Given the description of an element on the screen output the (x, y) to click on. 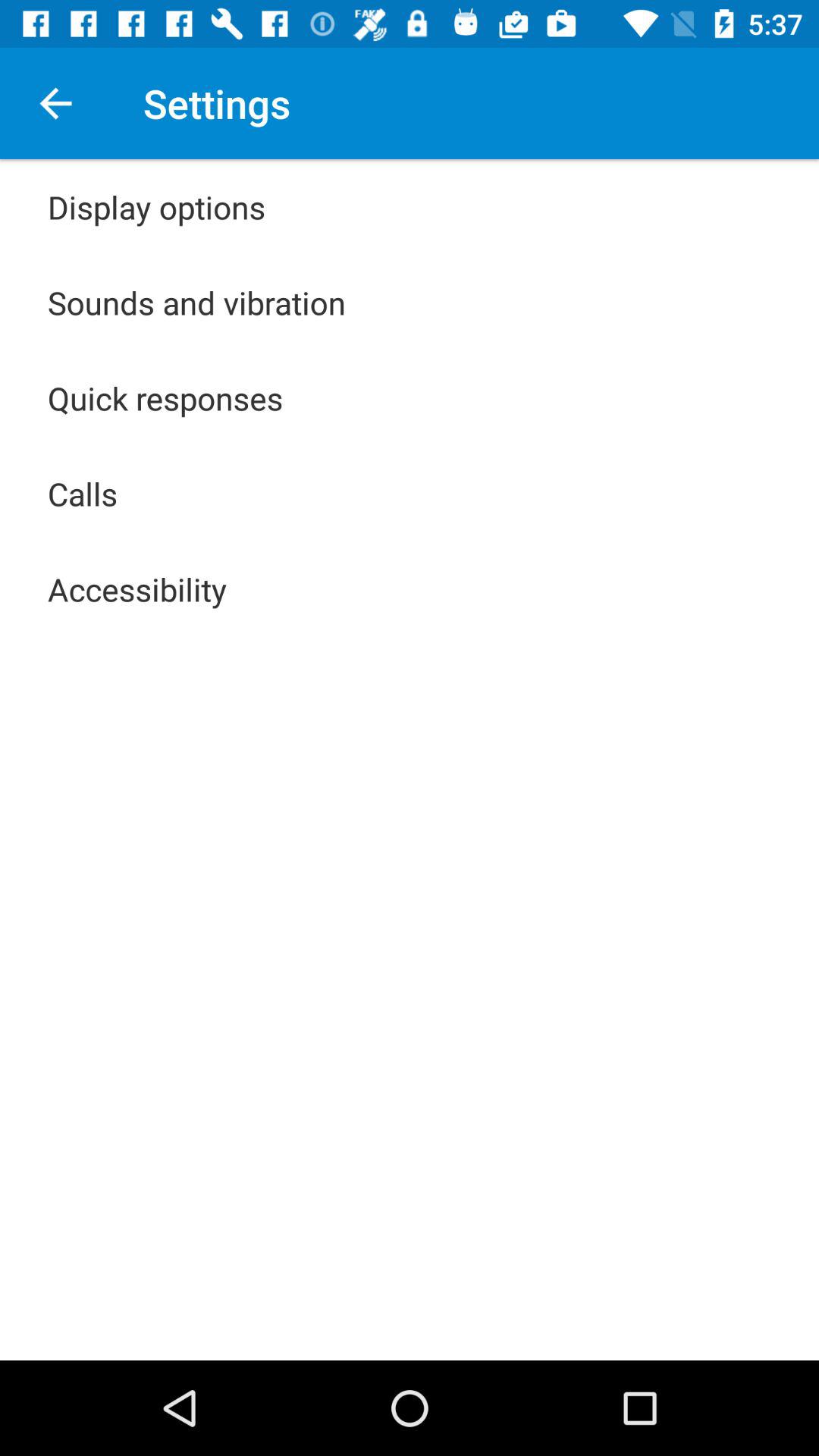
turn off the quick responses app (165, 397)
